Given the description of an element on the screen output the (x, y) to click on. 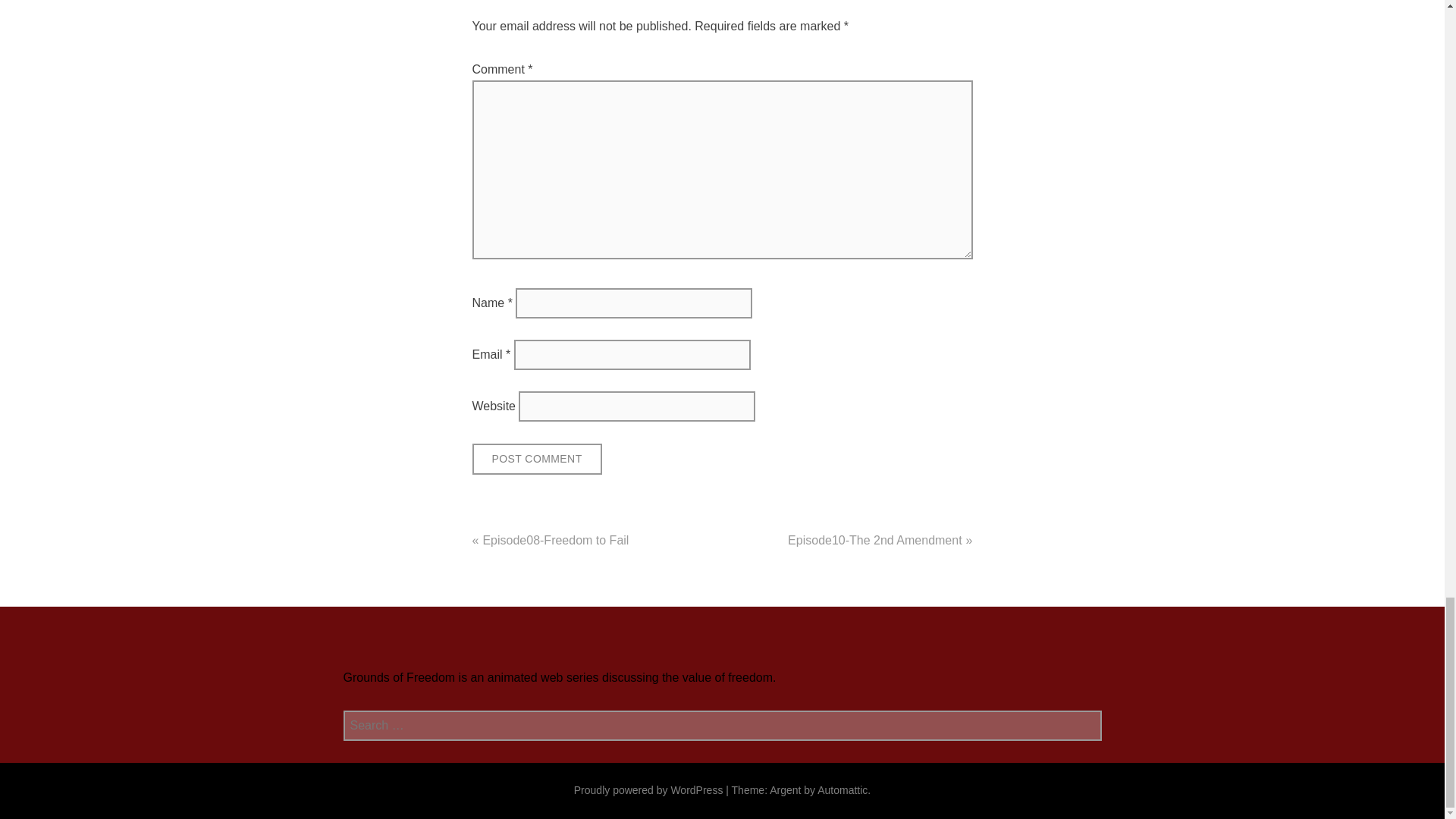
Proudly powered by WordPress (648, 789)
Episode08-Freedom to Fail (554, 540)
Episode10-The 2nd Amendment (873, 540)
Post Comment (536, 459)
Post Comment (536, 459)
Automattic (841, 789)
